Given the description of an element on the screen output the (x, y) to click on. 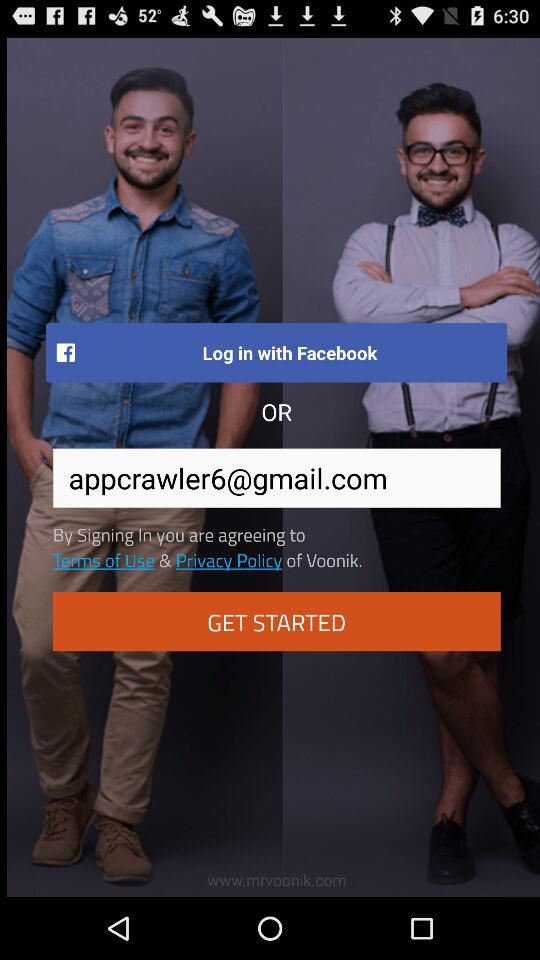
click the item below the by signing in (103, 559)
